Given the description of an element on the screen output the (x, y) to click on. 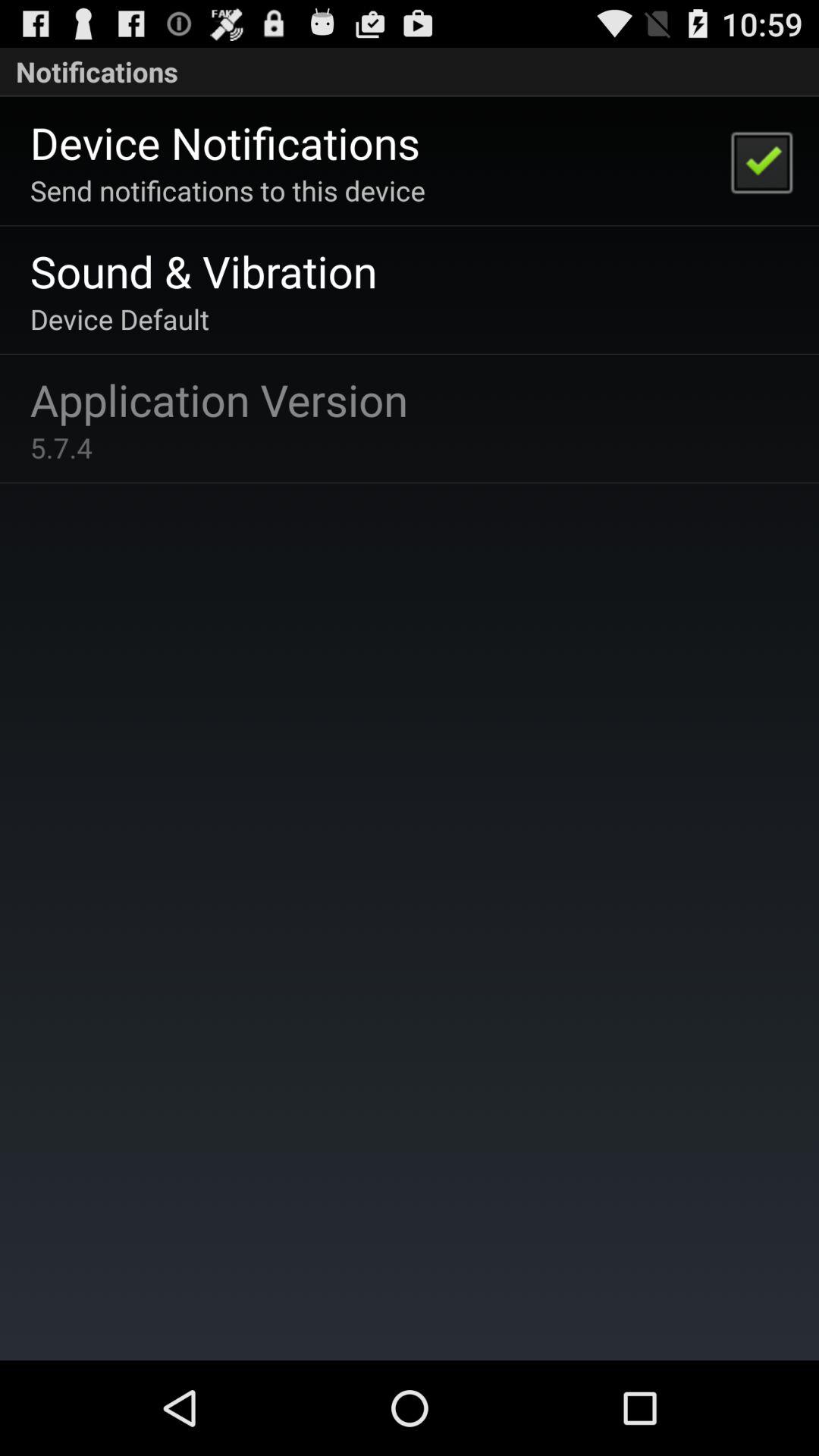
launch the send notifications to app (227, 190)
